Given the description of an element on the screen output the (x, y) to click on. 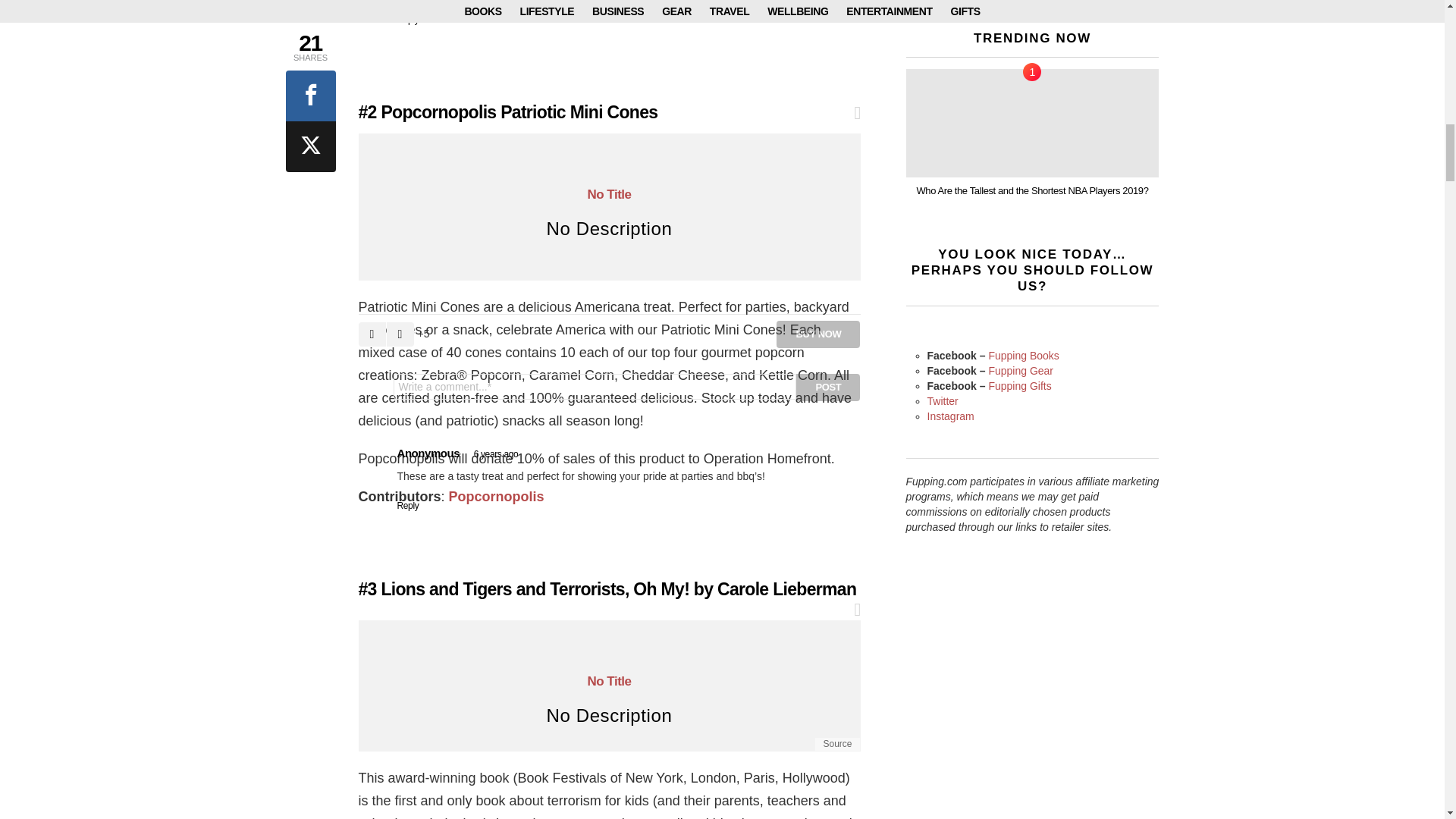
Post (828, 387)
